Given the description of an element on the screen output the (x, y) to click on. 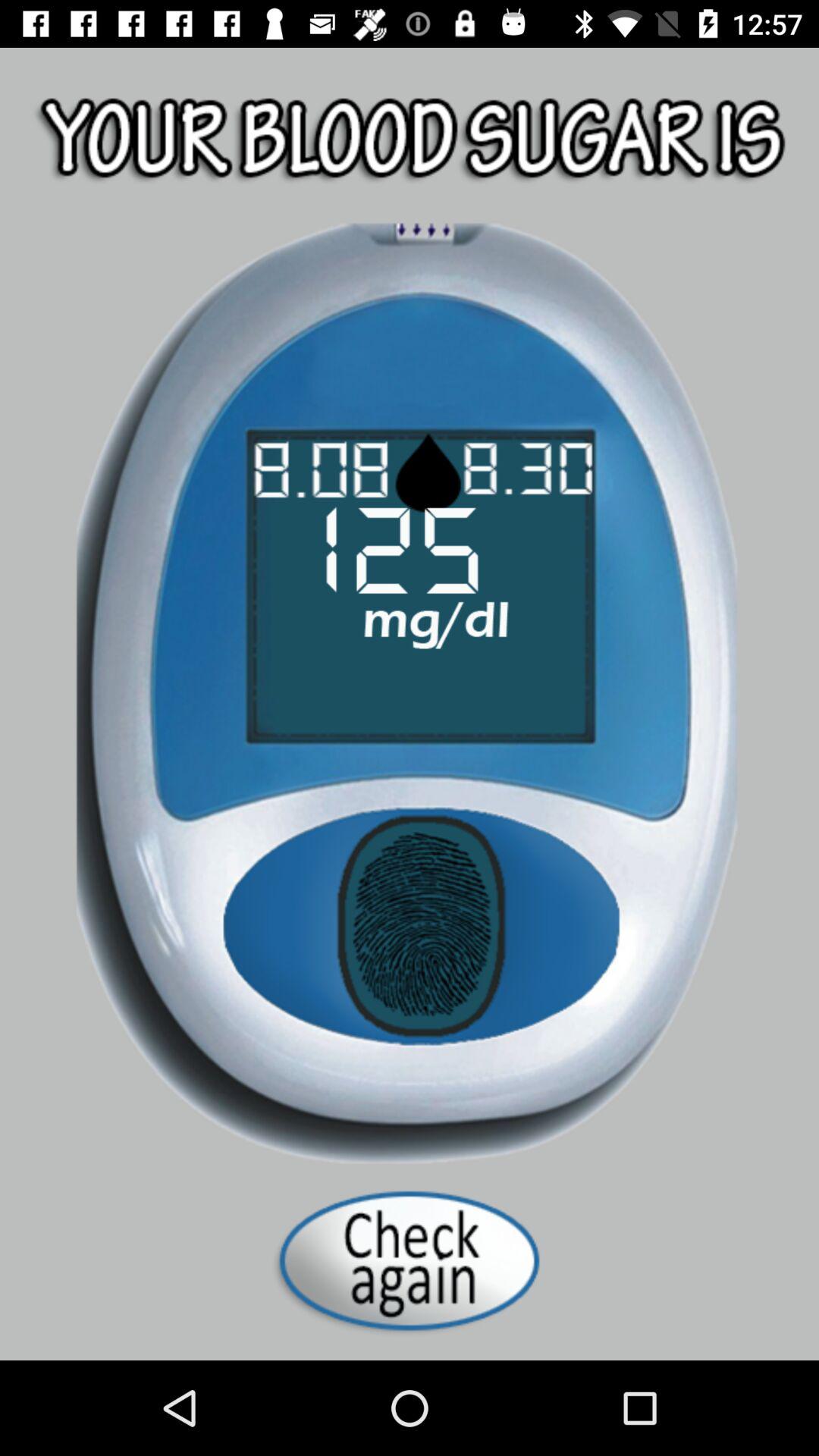
advertisement (409, 1260)
